Given the description of an element on the screen output the (x, y) to click on. 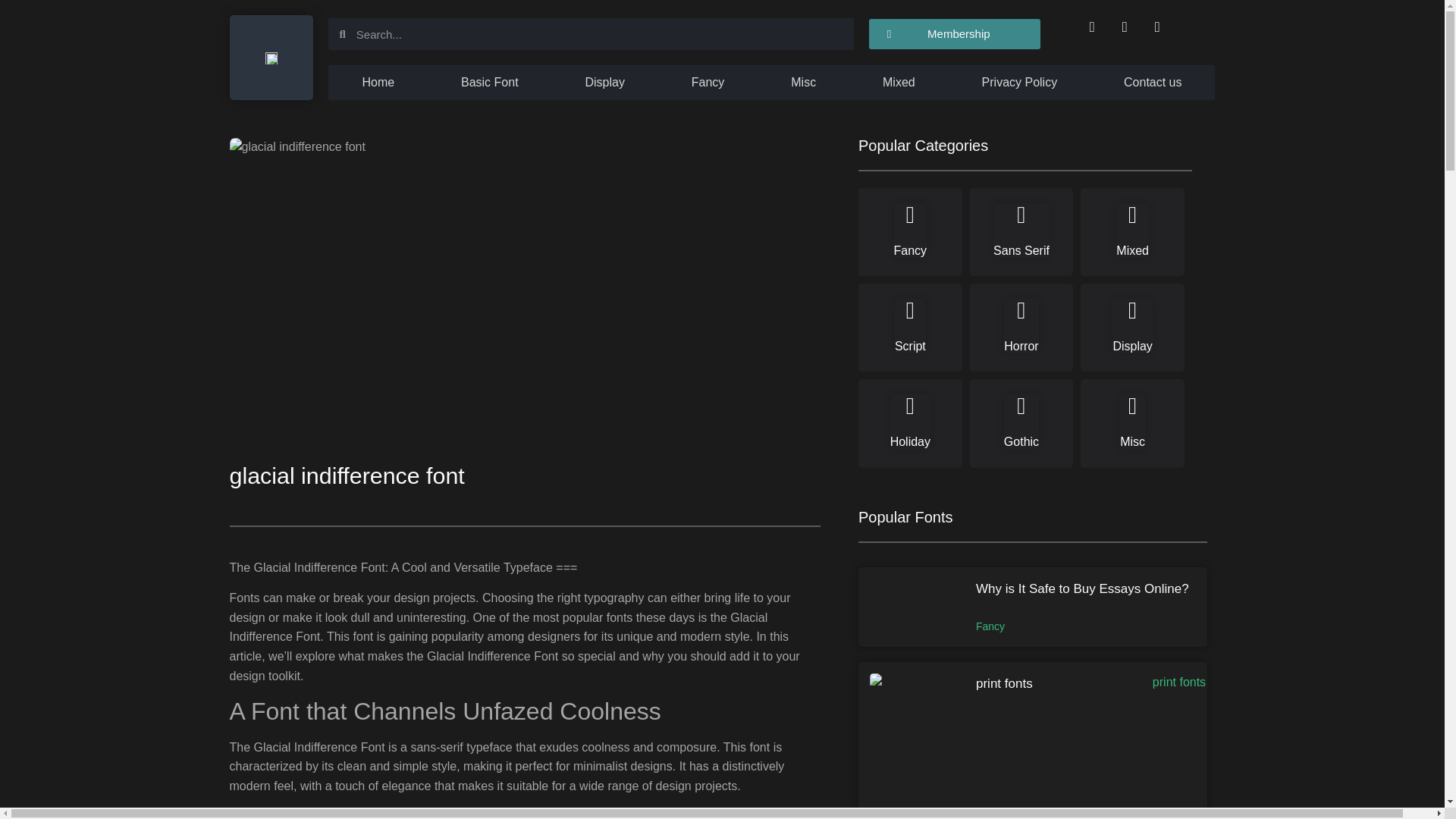
Fancy (707, 82)
Contact us (1152, 82)
Membership (955, 33)
Misc (802, 82)
Mixed (898, 82)
Home (378, 82)
Privacy Policy (1019, 82)
Display (604, 82)
Search (599, 33)
Basic Font (489, 82)
